Given the description of an element on the screen output the (x, y) to click on. 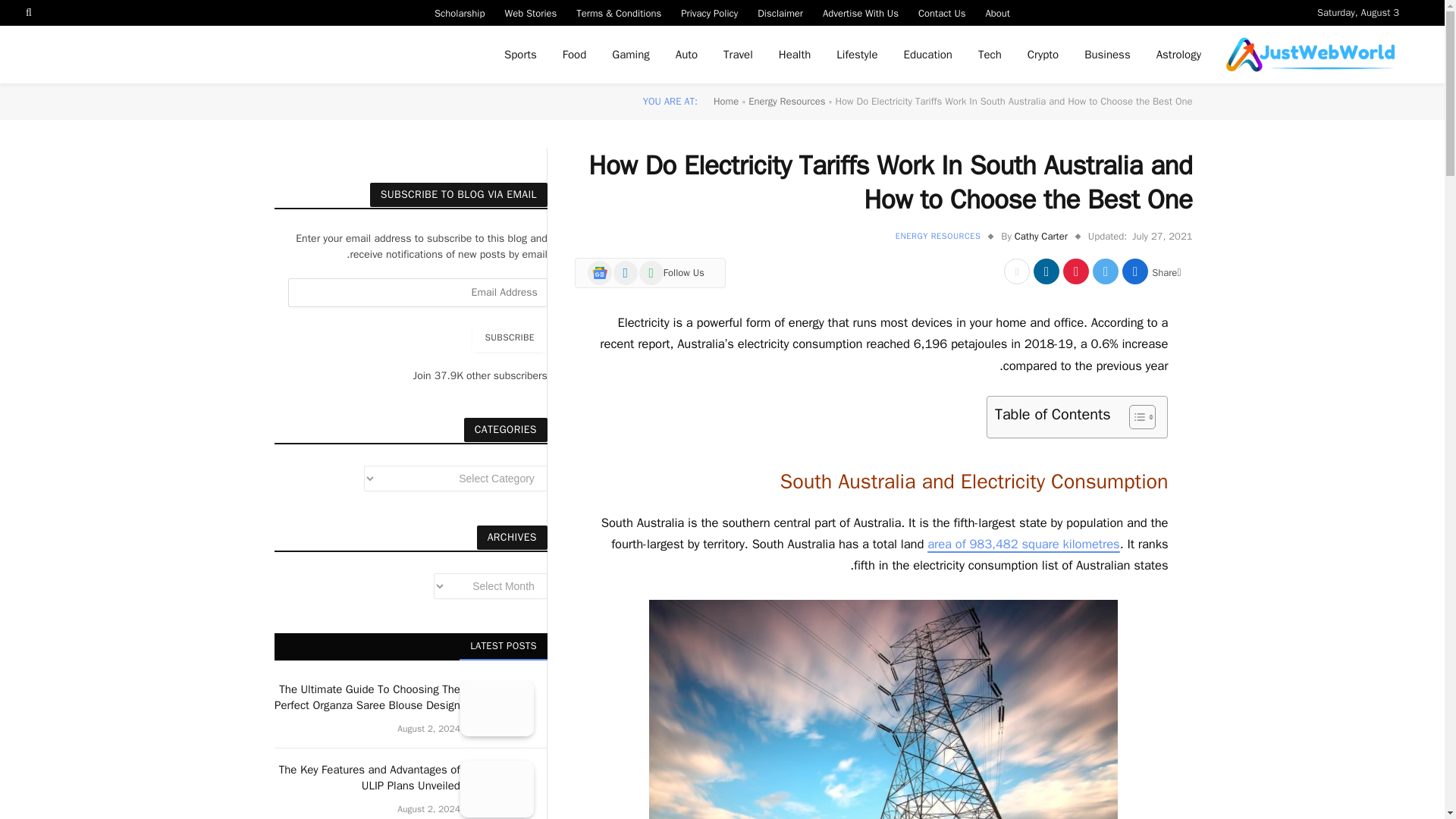
Business (1106, 54)
Travel (737, 54)
Disclaimer (780, 12)
Show More Social Sharing (1016, 271)
Lifestyle (856, 54)
Contact Us (941, 12)
Web Stories (530, 12)
About (997, 12)
Share on Facebook (1135, 271)
Education (928, 54)
